Given the description of an element on the screen output the (x, y) to click on. 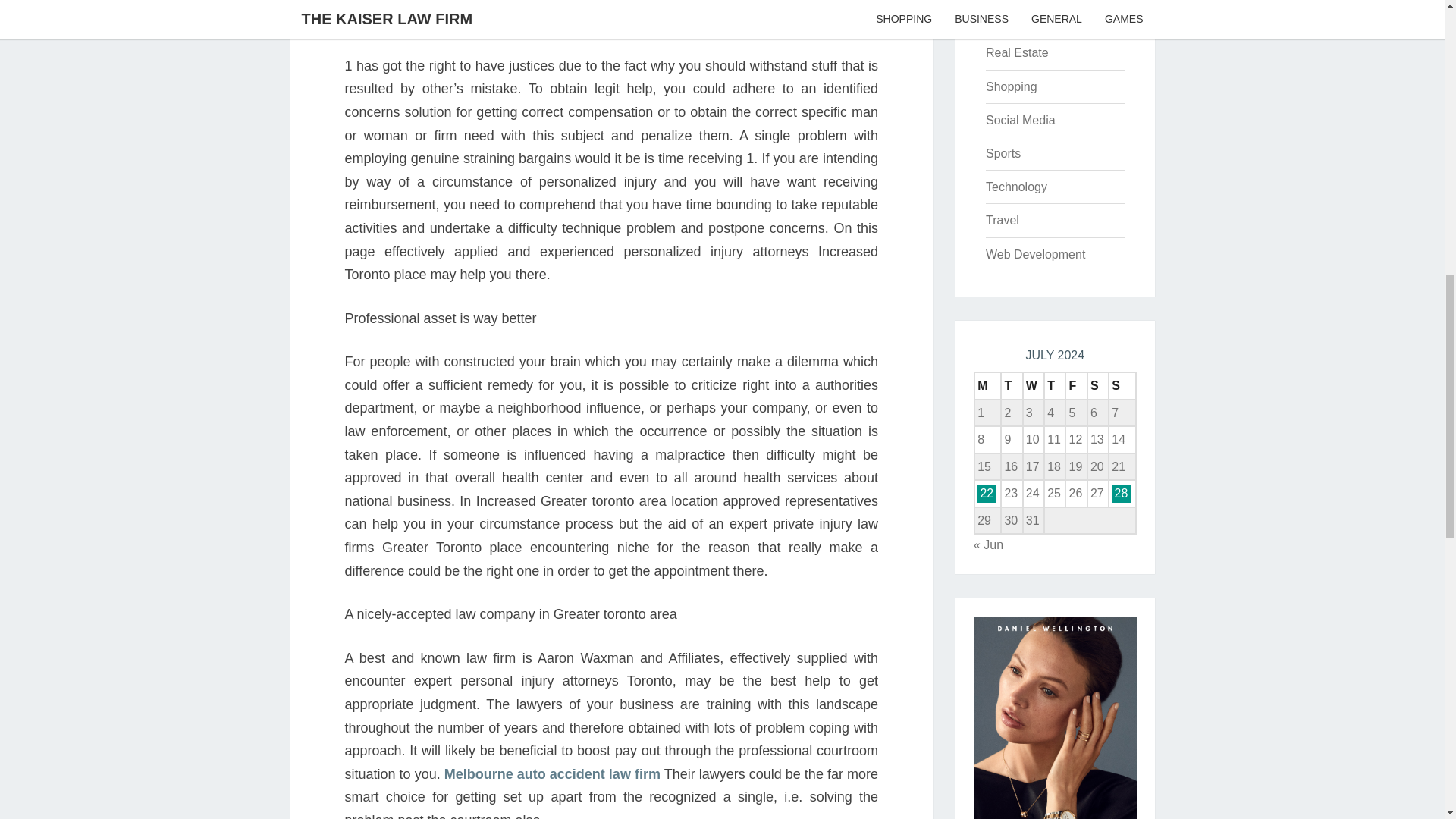
Technology (1015, 186)
Web Development (1034, 254)
Real Estate (1016, 51)
Travel (1002, 219)
Shopping (1010, 86)
Social Media (1020, 119)
Law (996, 19)
Melbourne auto accident law firm (552, 774)
22 (985, 493)
Sports (1002, 153)
Sunday (1121, 385)
28 (1120, 493)
Monday (987, 385)
